Given the description of an element on the screen output the (x, y) to click on. 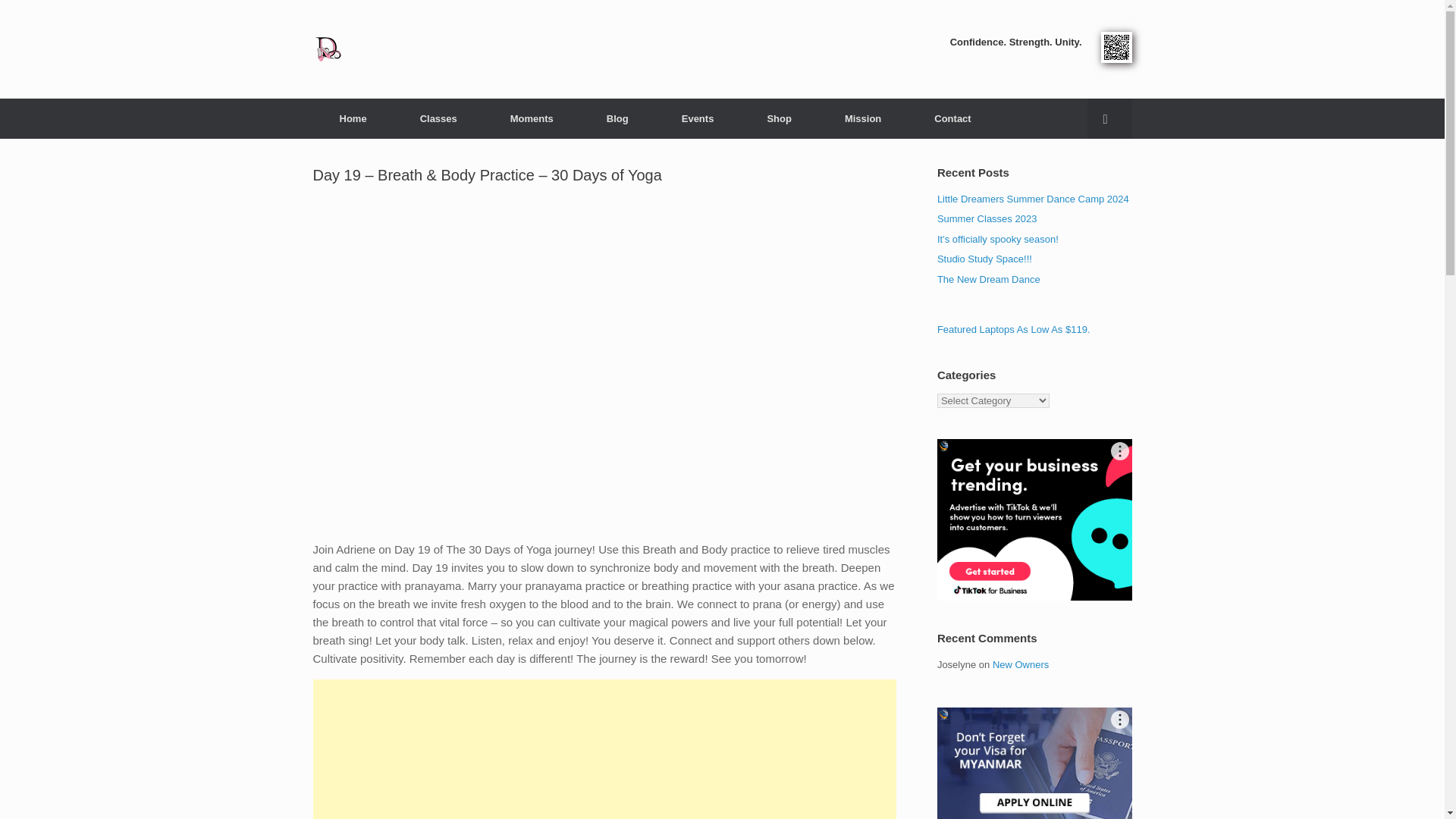
Moments (531, 118)
Dream Dance Academy (327, 49)
Advertisement (604, 749)
Events (698, 118)
Shop (778, 118)
Mission (862, 118)
Contact (952, 118)
Home (353, 118)
Blog (617, 118)
Classes (438, 118)
